Given the description of an element on the screen output the (x, y) to click on. 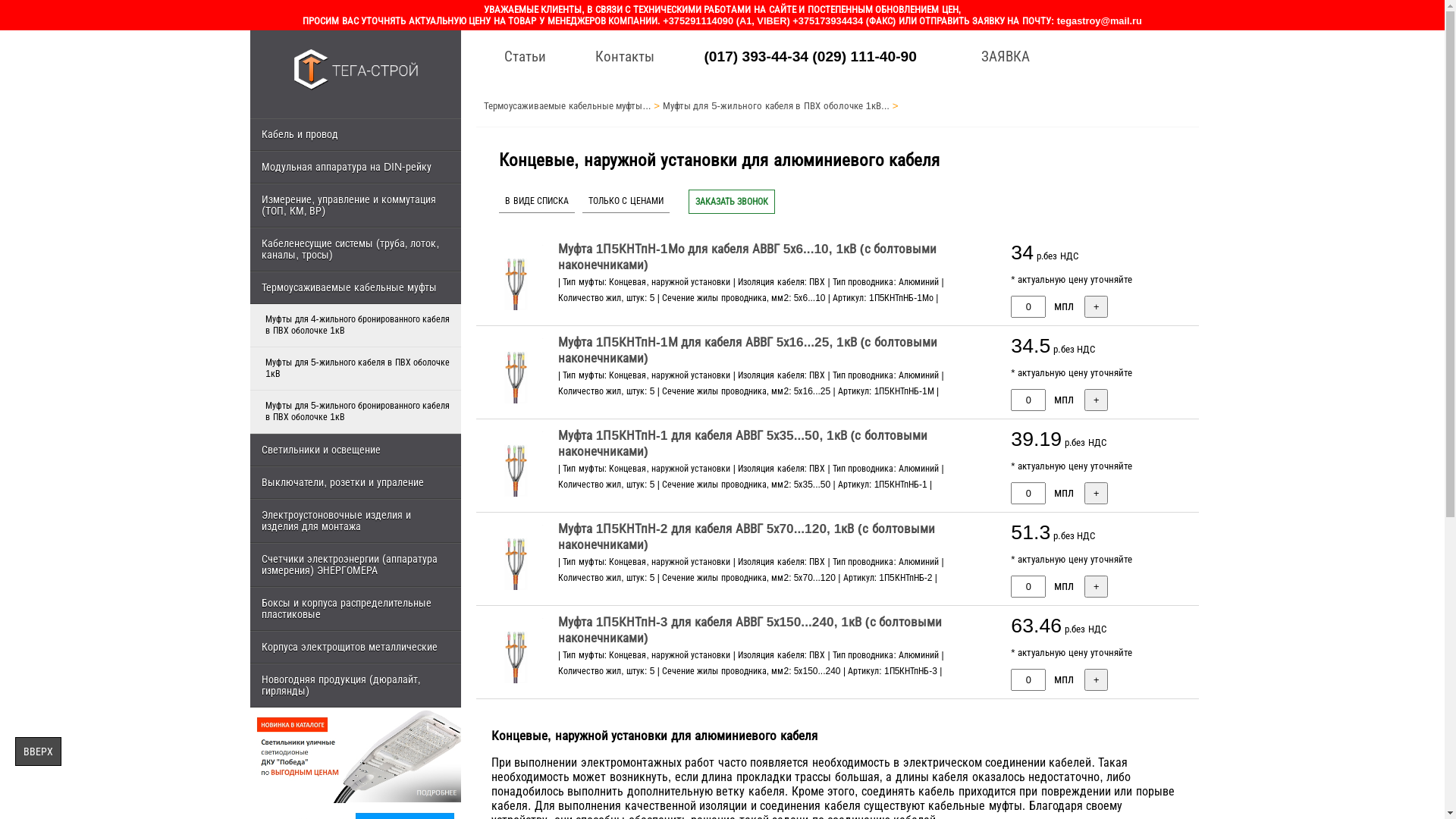
+ Element type: text (1095, 493)
+ Element type: text (1095, 306)
+ Element type: text (1095, 586)
+ Element type: text (1095, 400)
+ Element type: text (1095, 679)
